Given the description of an element on the screen output the (x, y) to click on. 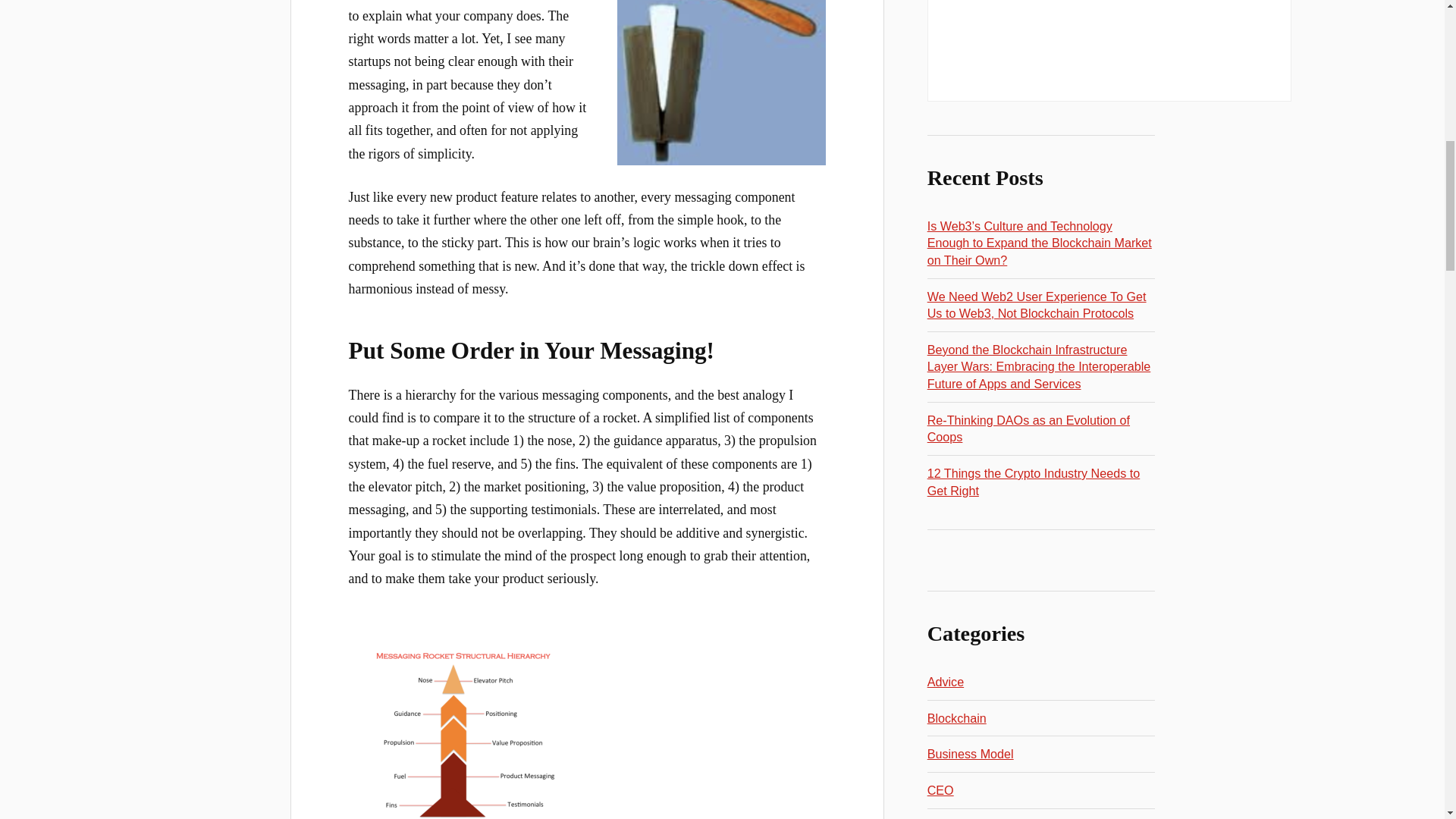
Advice (945, 681)
12 Things the Crypto Industry Needs to Get Right (1033, 481)
Business Model (970, 753)
CEO (940, 789)
Blockchain (957, 717)
Re-Thinking DAOs as an Evolution of Coops (1028, 428)
